Given the description of an element on the screen output the (x, y) to click on. 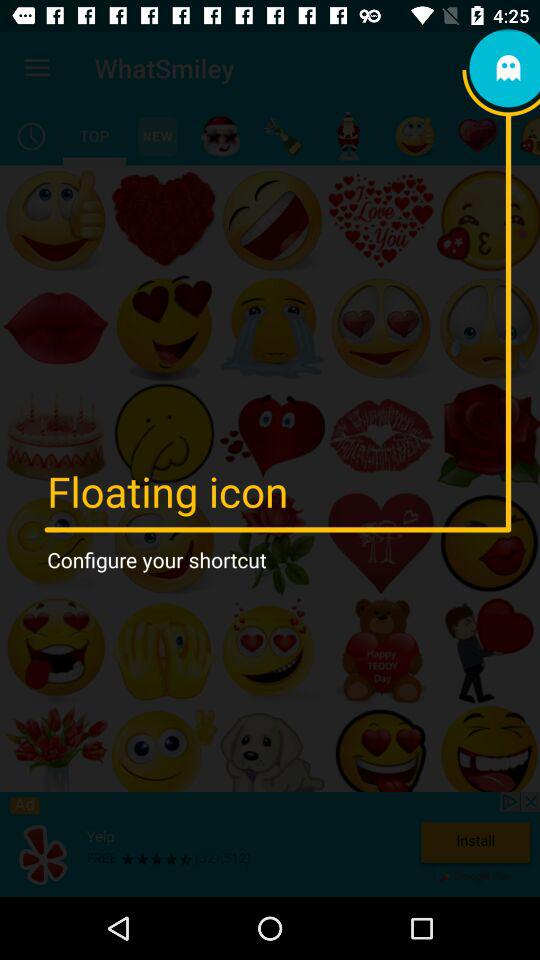
select emoji (283, 136)
